Given the description of an element on the screen output the (x, y) to click on. 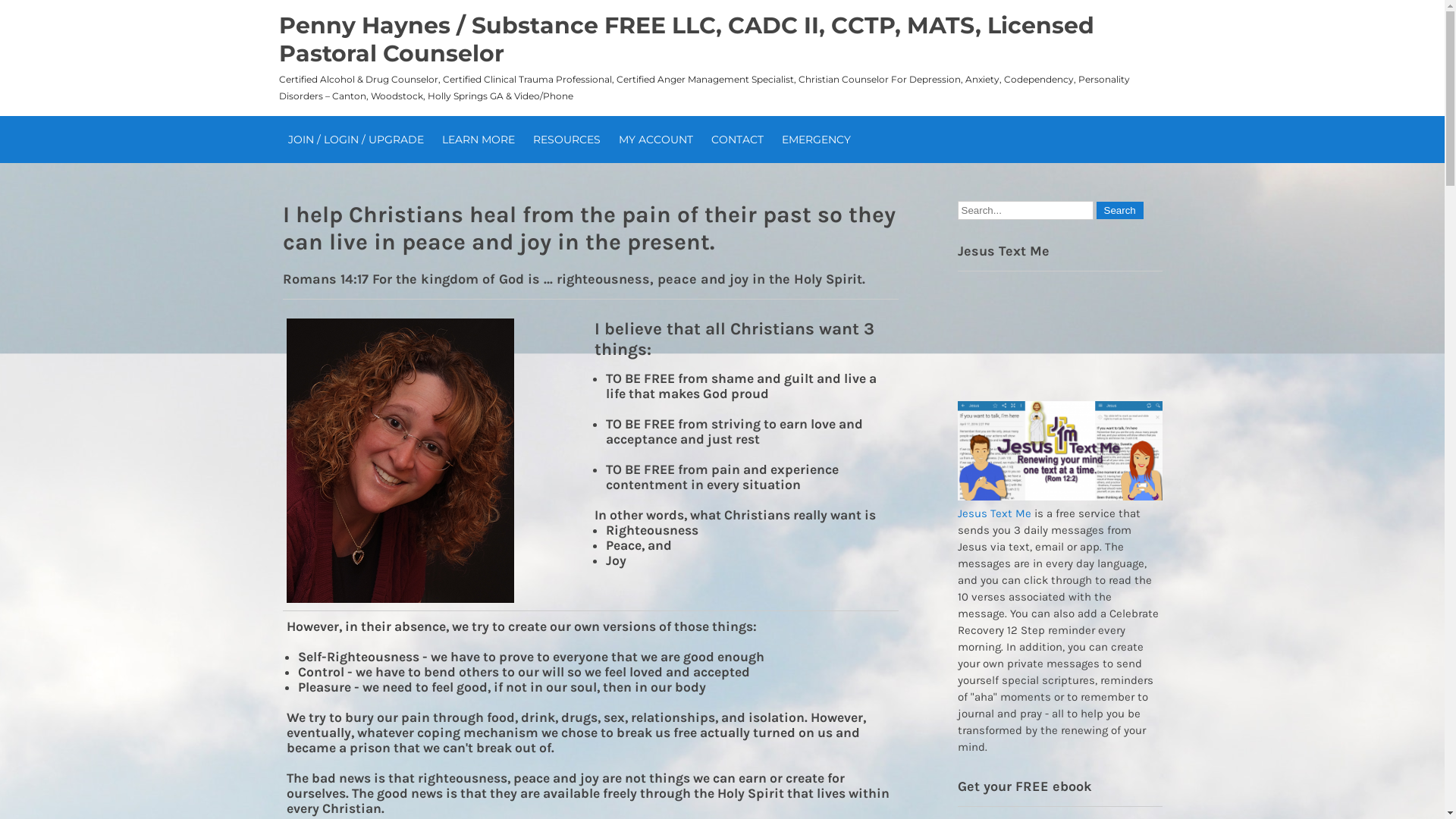
LEARN MORE Element type: text (477, 139)
JOIN / LOGIN / UPGRADE Element type: text (355, 139)
EMERGENCY Element type: text (815, 139)
Search Element type: text (1119, 210)
CONTACT Element type: text (737, 139)
RESOURCES Element type: text (565, 139)
Jesus Text Me Element type: text (993, 513)
MY ACCOUNT Element type: text (655, 139)
